Given the description of an element on the screen output the (x, y) to click on. 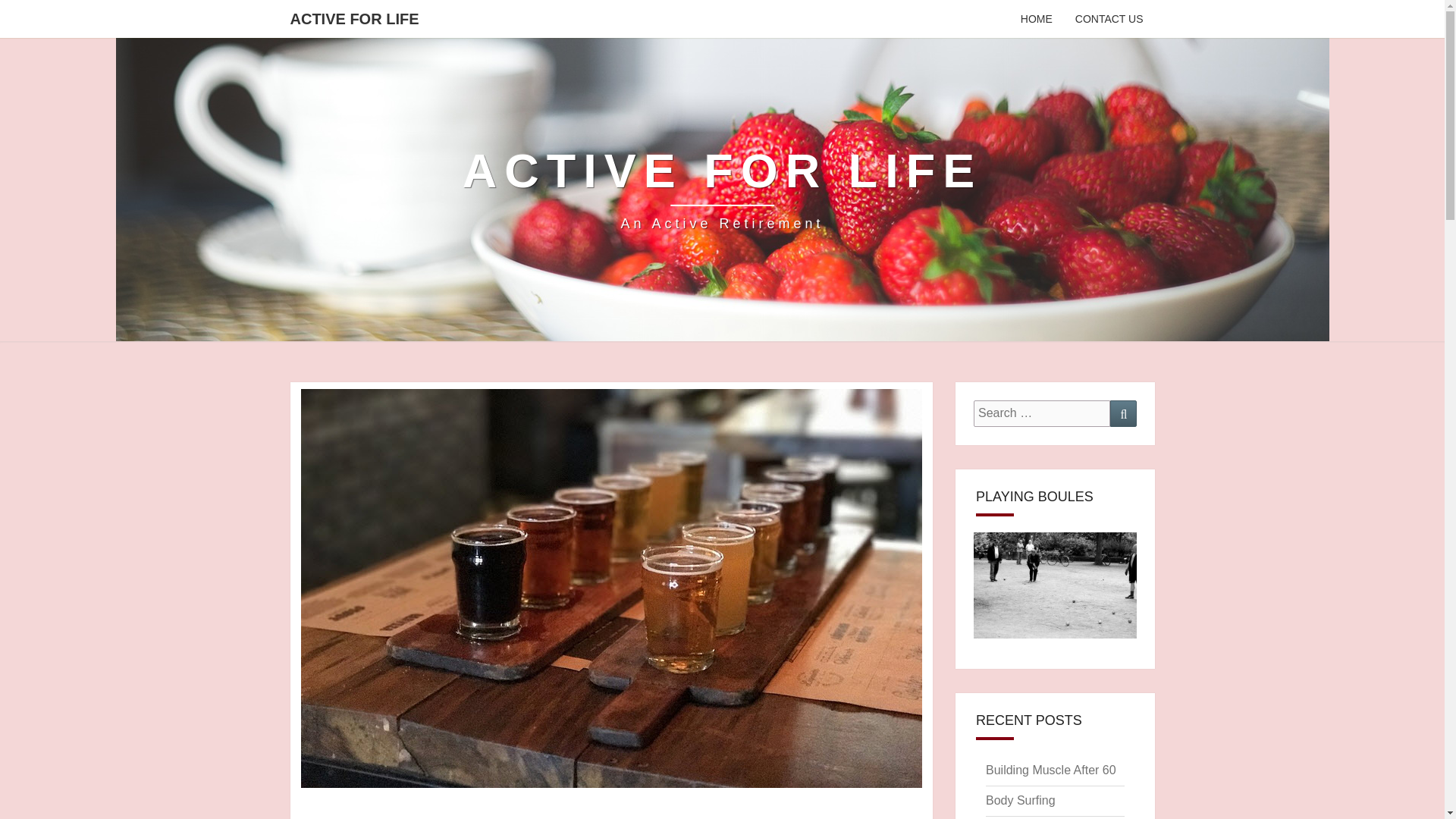
Search for: (1041, 413)
ACTIVE FOR LIFE (354, 18)
Search (1123, 413)
Building Muscle After 60 (1050, 769)
Body Surfing (1020, 799)
HOME (1036, 18)
CONTACT US (1109, 18)
Active for Life (722, 189)
Contact us (722, 189)
Home (1109, 18)
